Given the description of an element on the screen output the (x, y) to click on. 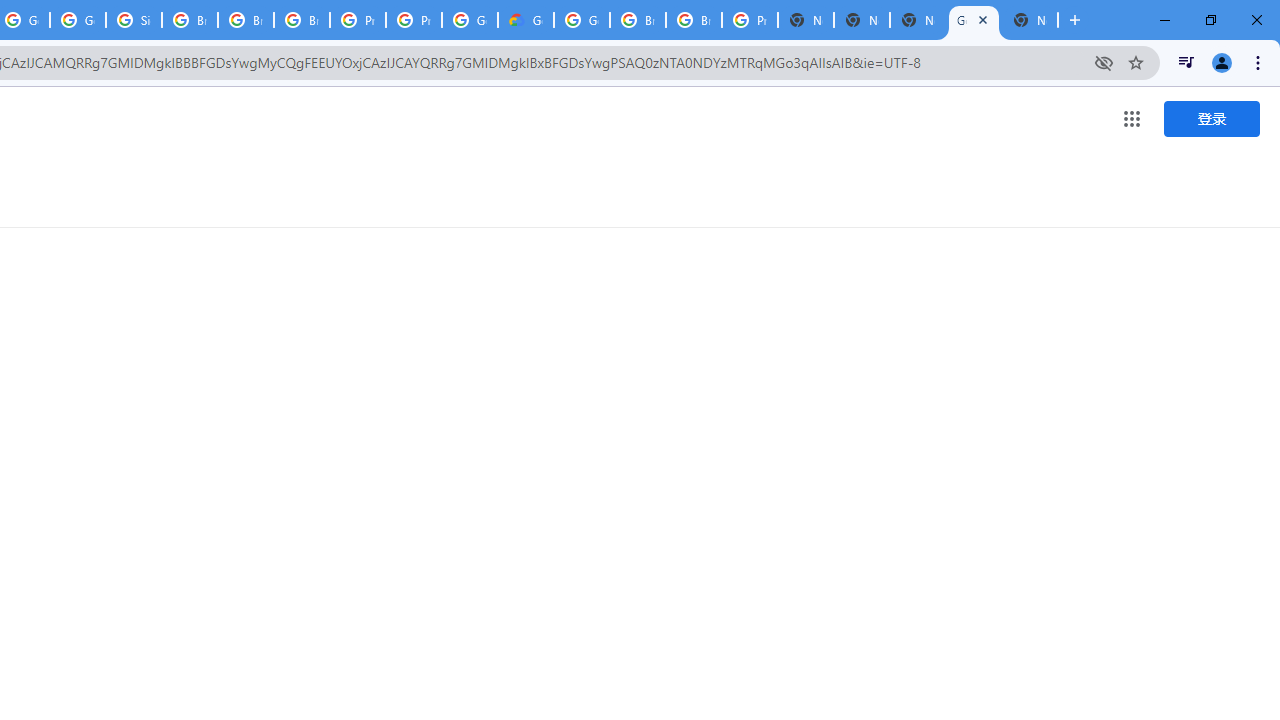
Google Cloud Estimate Summary (525, 20)
Browse Chrome as a guest - Computer - Google Chrome Help (637, 20)
New Tab (1030, 20)
Control your music, videos, and more (1185, 62)
Browse Chrome as a guest - Computer - Google Chrome Help (301, 20)
